Given the description of an element on the screen output the (x, y) to click on. 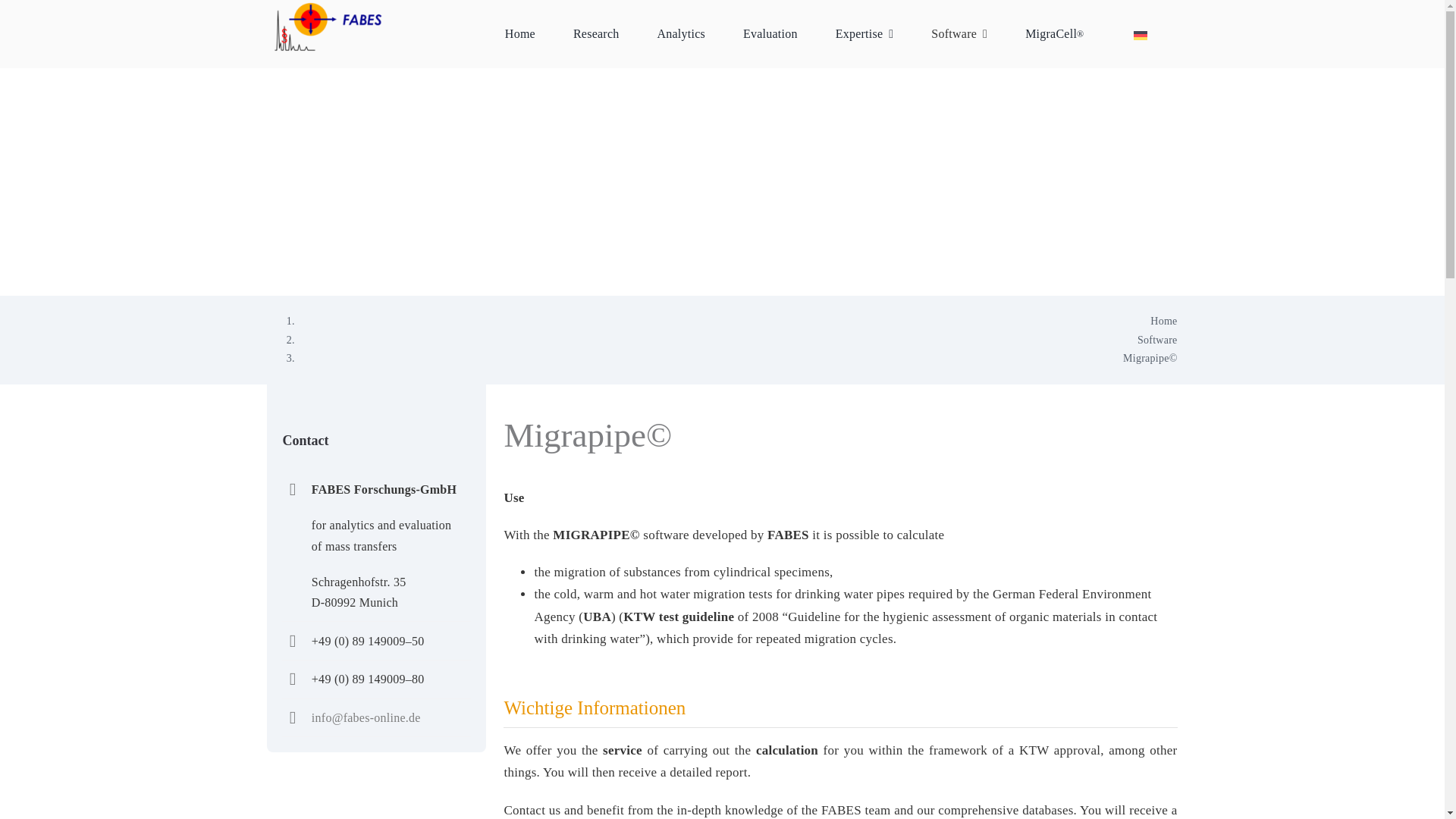
Home (1163, 320)
